Given the description of an element on the screen output the (x, y) to click on. 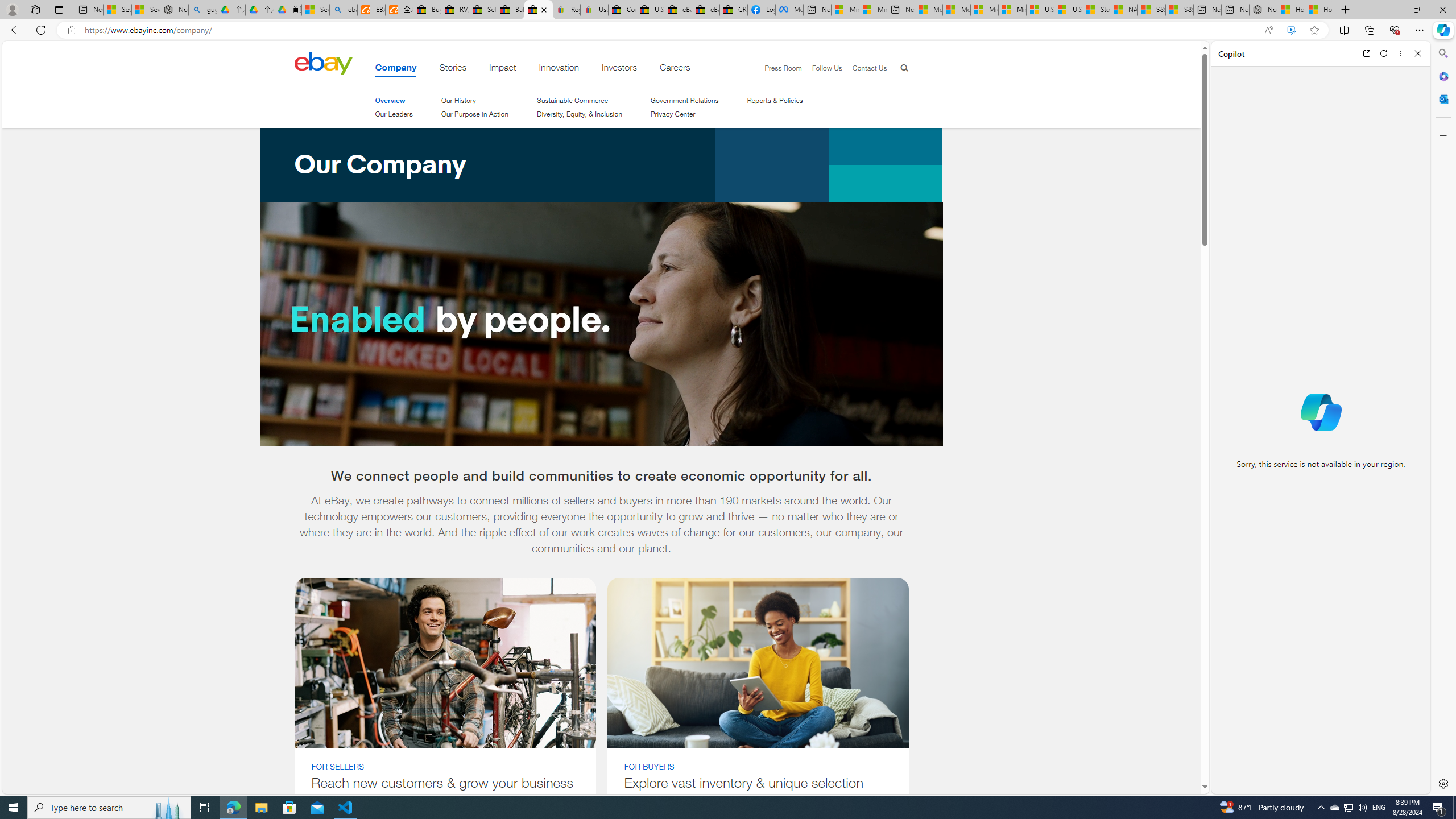
Innovation (558, 69)
Careers (674, 69)
Diversity, Equity, & Inclusion (579, 113)
Contact Us (863, 68)
Investors (619, 69)
Meta Store (789, 9)
